Given the description of an element on the screen output the (x, y) to click on. 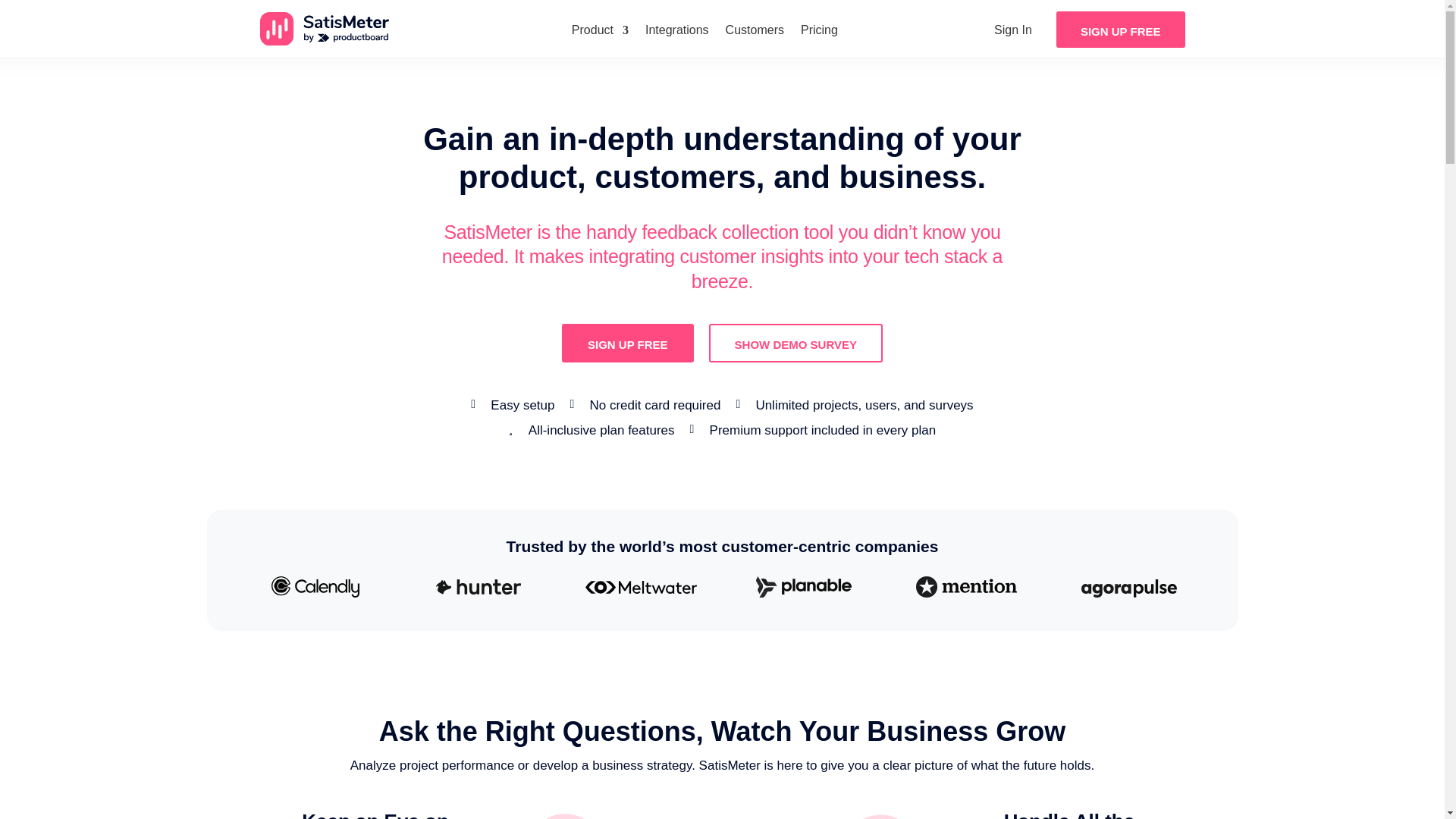
SHOW DEMO SURVEY (795, 342)
Calendly (314, 586)
Planable (803, 586)
SIGN UP FREE (1121, 29)
Customers (754, 29)
Product (600, 29)
Integrations (677, 29)
Pricing (819, 29)
Hunter.io (478, 586)
SIGN UP FREE (628, 342)
Agorapulse (1128, 588)
Mention (965, 586)
Sign In (1013, 29)
Meltwater (641, 586)
